Given the description of an element on the screen output the (x, y) to click on. 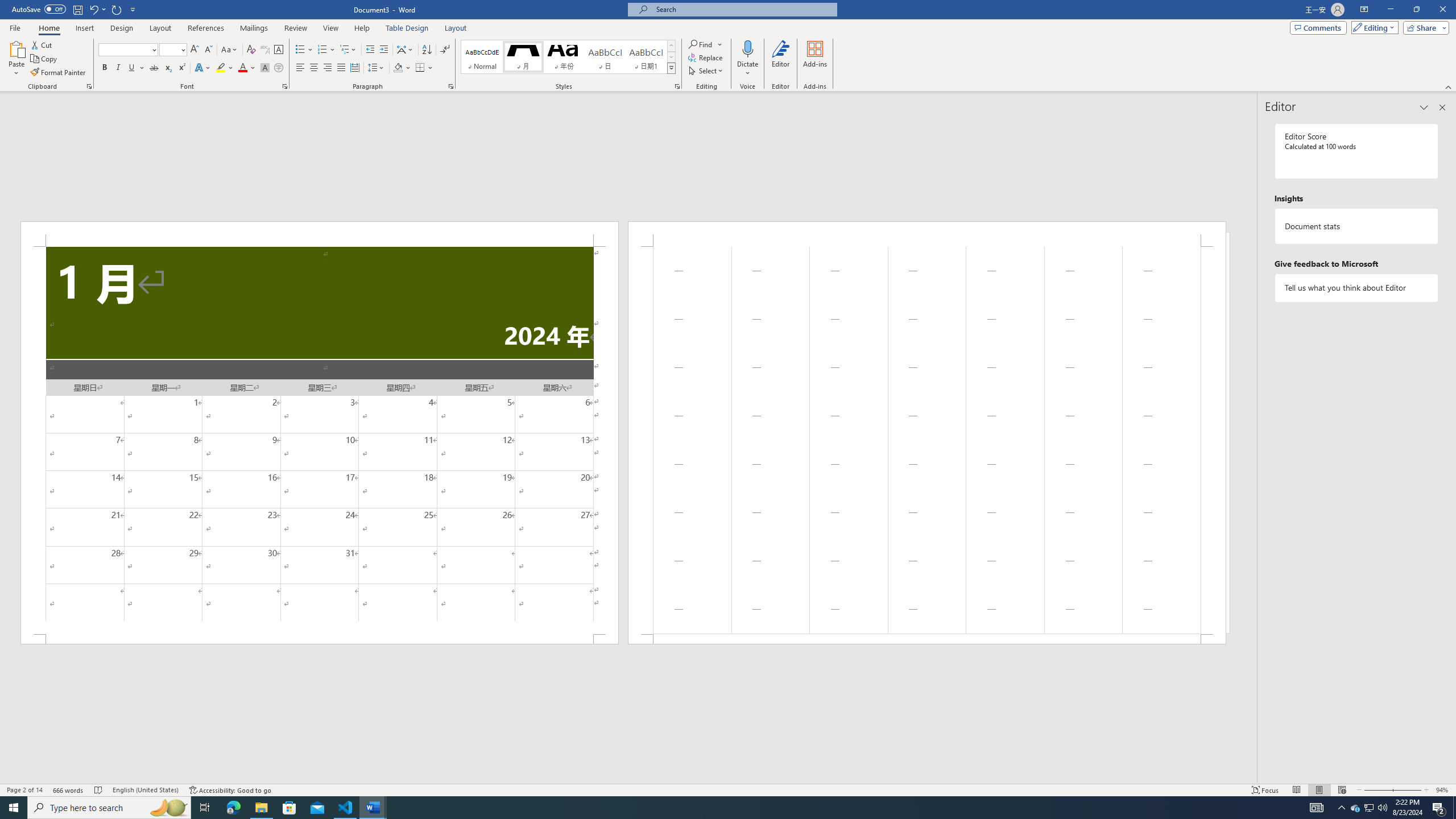
Repeat Style (117, 9)
Undo Apply Quick Style (96, 9)
